Given the description of an element on the screen output the (x, y) to click on. 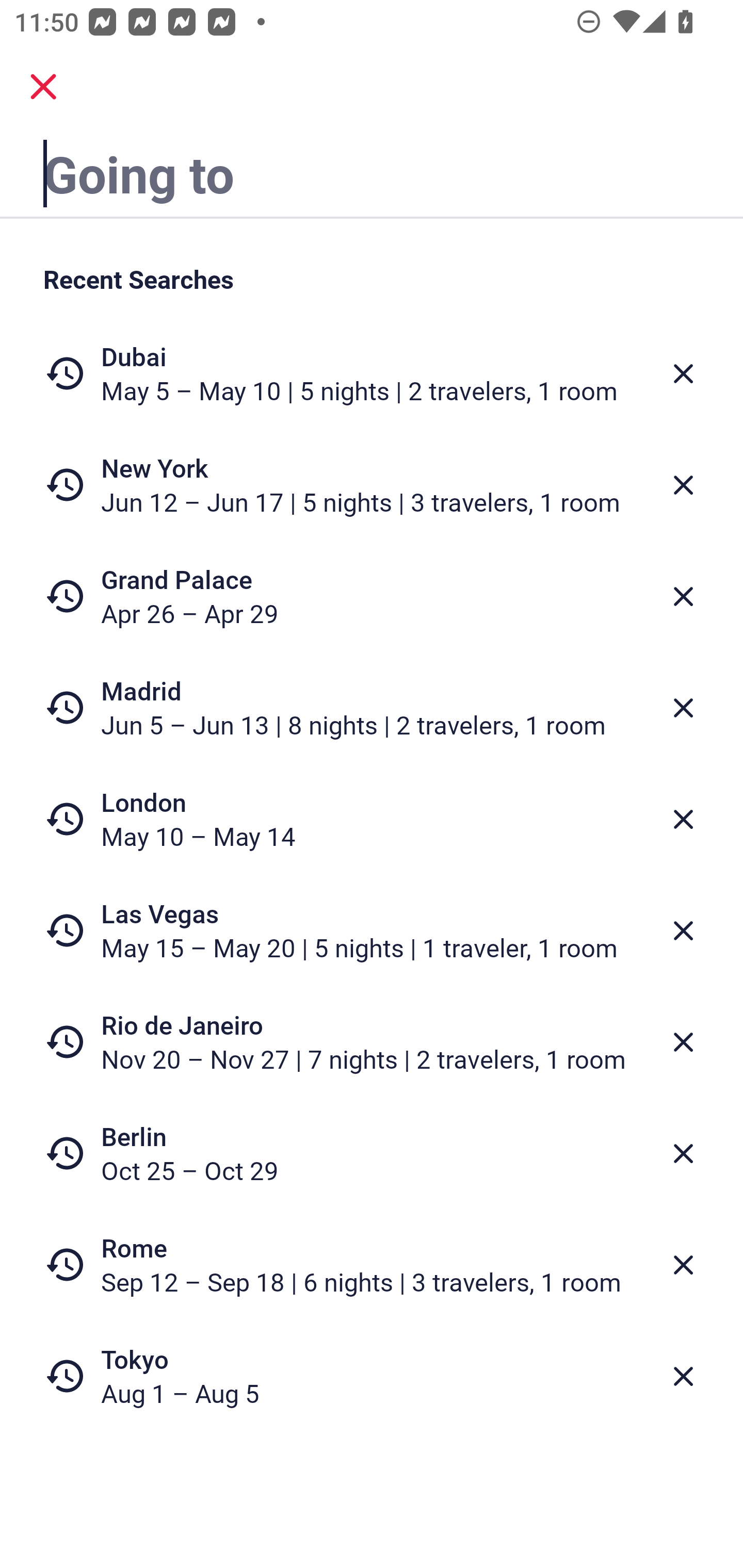
close. (43, 86)
Delete from recent searches (683, 373)
Delete from recent searches (683, 485)
Grand Palace Apr 26 – Apr 29 (371, 596)
Delete from recent searches (683, 596)
Delete from recent searches (683, 707)
London May 10 – May 14 (371, 818)
Delete from recent searches (683, 819)
Delete from recent searches (683, 930)
Delete from recent searches (683, 1041)
Berlin Oct 25 – Oct 29 (371, 1152)
Delete from recent searches (683, 1153)
Delete from recent searches (683, 1265)
Tokyo Aug 1 – Aug 5 (371, 1375)
Delete from recent searches (683, 1376)
